Given the description of an element on the screen output the (x, y) to click on. 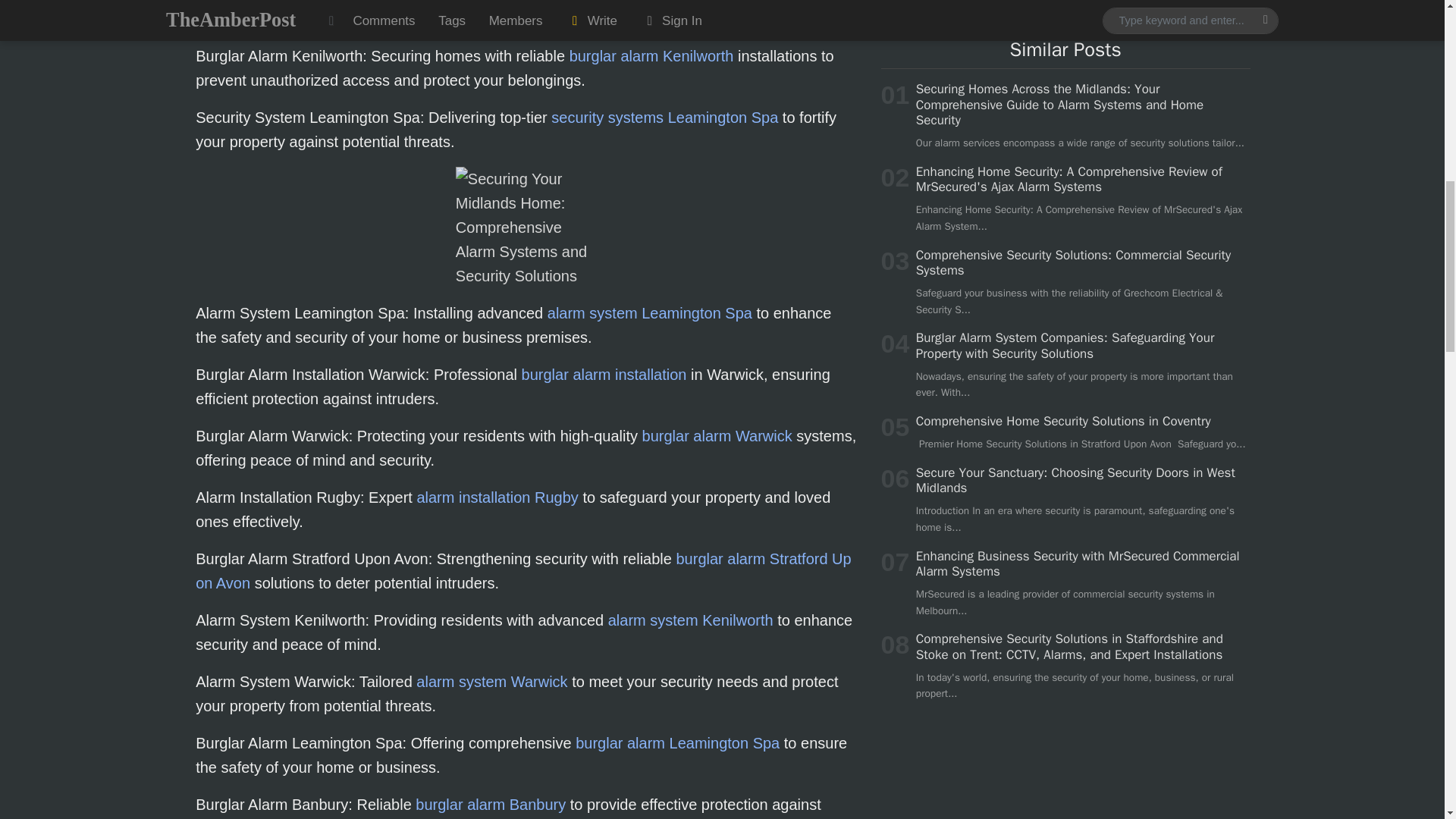
burglar alarm Banbury (490, 804)
security systems Leamington Spa (664, 117)
alarm installation Rugby (497, 497)
alarm system Leamington Spa (649, 312)
burglar alarm installation (604, 374)
burglar alarm Leamington Spa (676, 742)
burglar alarm Warwick (717, 435)
burglar alarm Kenilworth (651, 55)
alarm system Kenilworth (690, 619)
burglar alarm Stratford Upon Avon (523, 570)
